Given the description of an element on the screen output the (x, y) to click on. 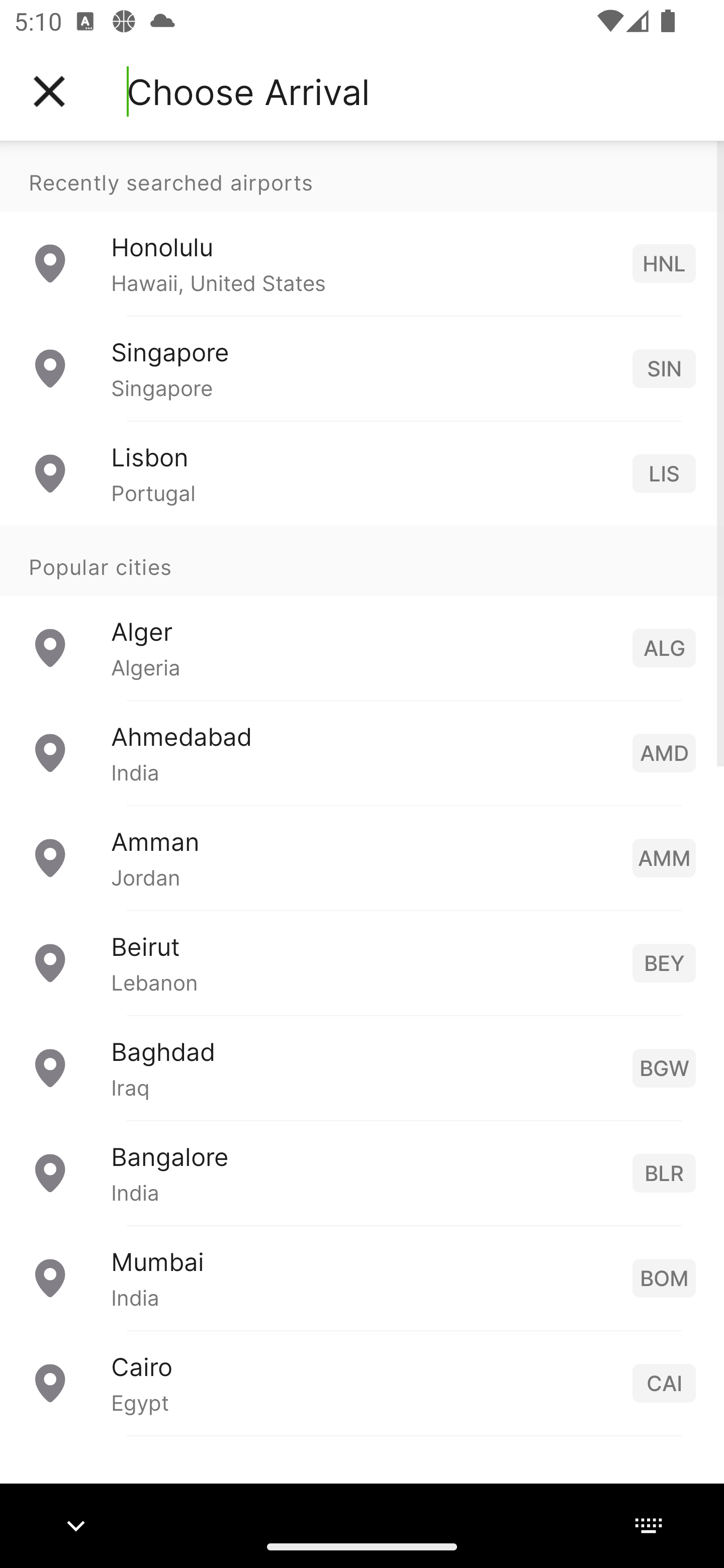
Choose Arrival (247, 91)
Recently searched airports (362, 176)
Singapore Singapore SIN (362, 367)
Lisbon Portugal LIS (362, 472)
Popular cities Alger Algeria ALG (362, 612)
Popular cities (362, 560)
Ahmedabad India AMD (362, 751)
Amman Jordan AMM (362, 856)
Beirut Lebanon BEY (362, 961)
Baghdad Iraq BGW (362, 1066)
Bangalore India BLR (362, 1171)
Mumbai India BOM (362, 1276)
Cairo Egypt CAI (362, 1381)
